Given the description of an element on the screen output the (x, y) to click on. 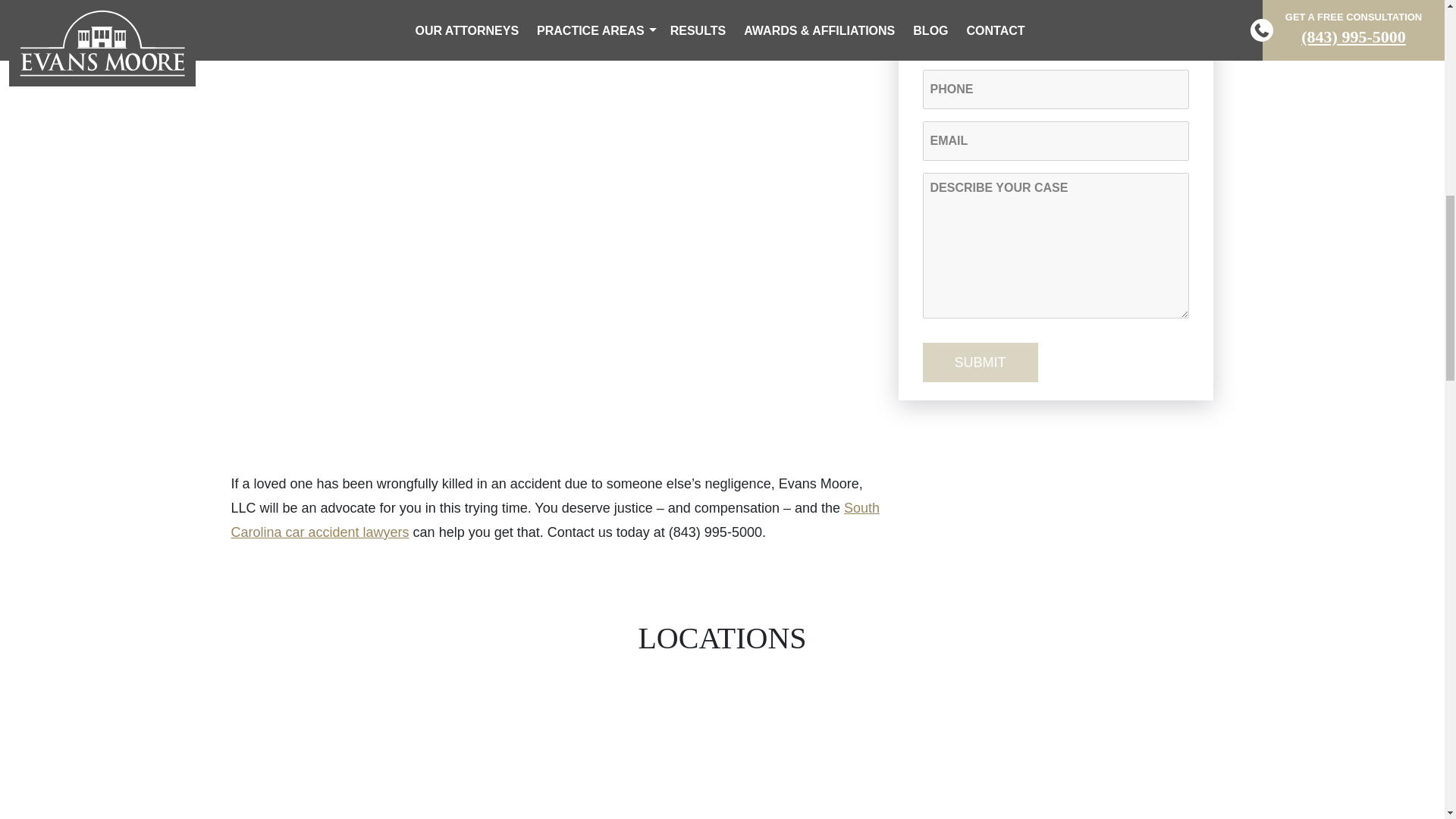
South Carolina car accident lawyers (554, 519)
Submit (978, 362)
